Given the description of an element on the screen output the (x, y) to click on. 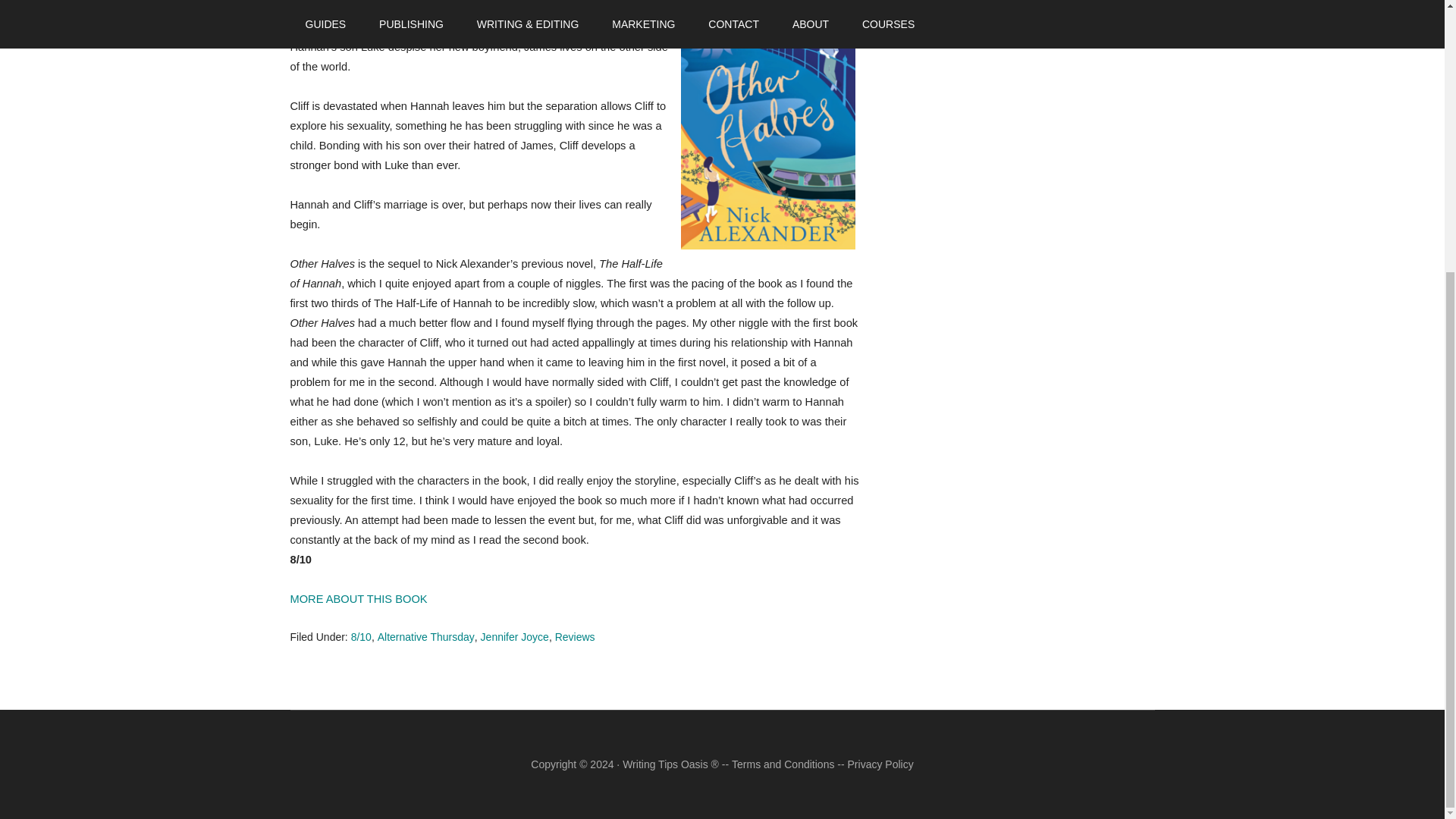
Jennifer Joyce (514, 636)
MORE ABOUT THIS BOOK (357, 598)
Reviews (574, 636)
Alternative Thursday (425, 636)
Other Halves by Nick Alexander (357, 598)
Privacy Policy (880, 764)
Terms and Conditions (783, 764)
